Given the description of an element on the screen output the (x, y) to click on. 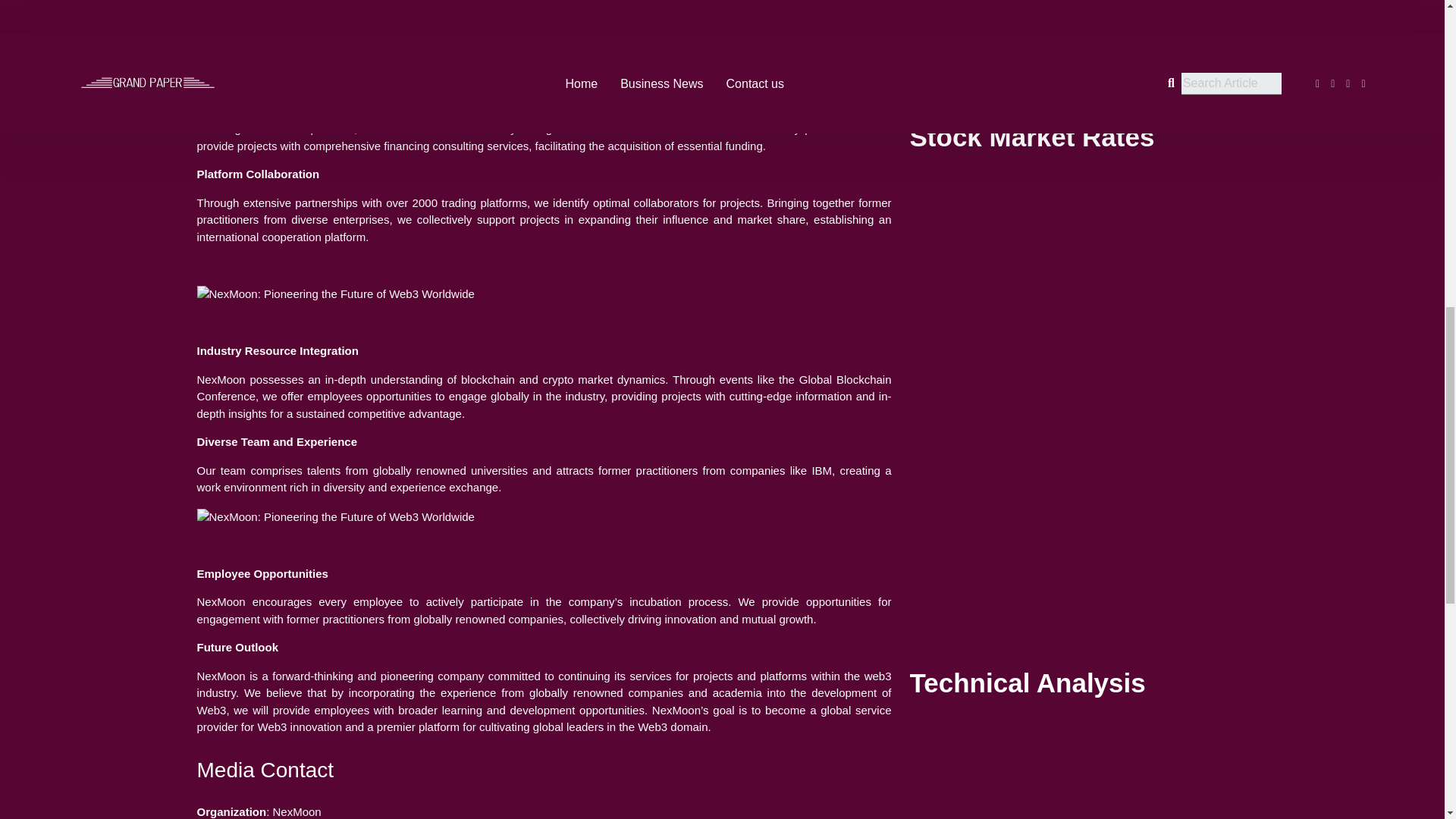
technical analysis TradingView widget (1078, 135)
